Given the description of an element on the screen output the (x, y) to click on. 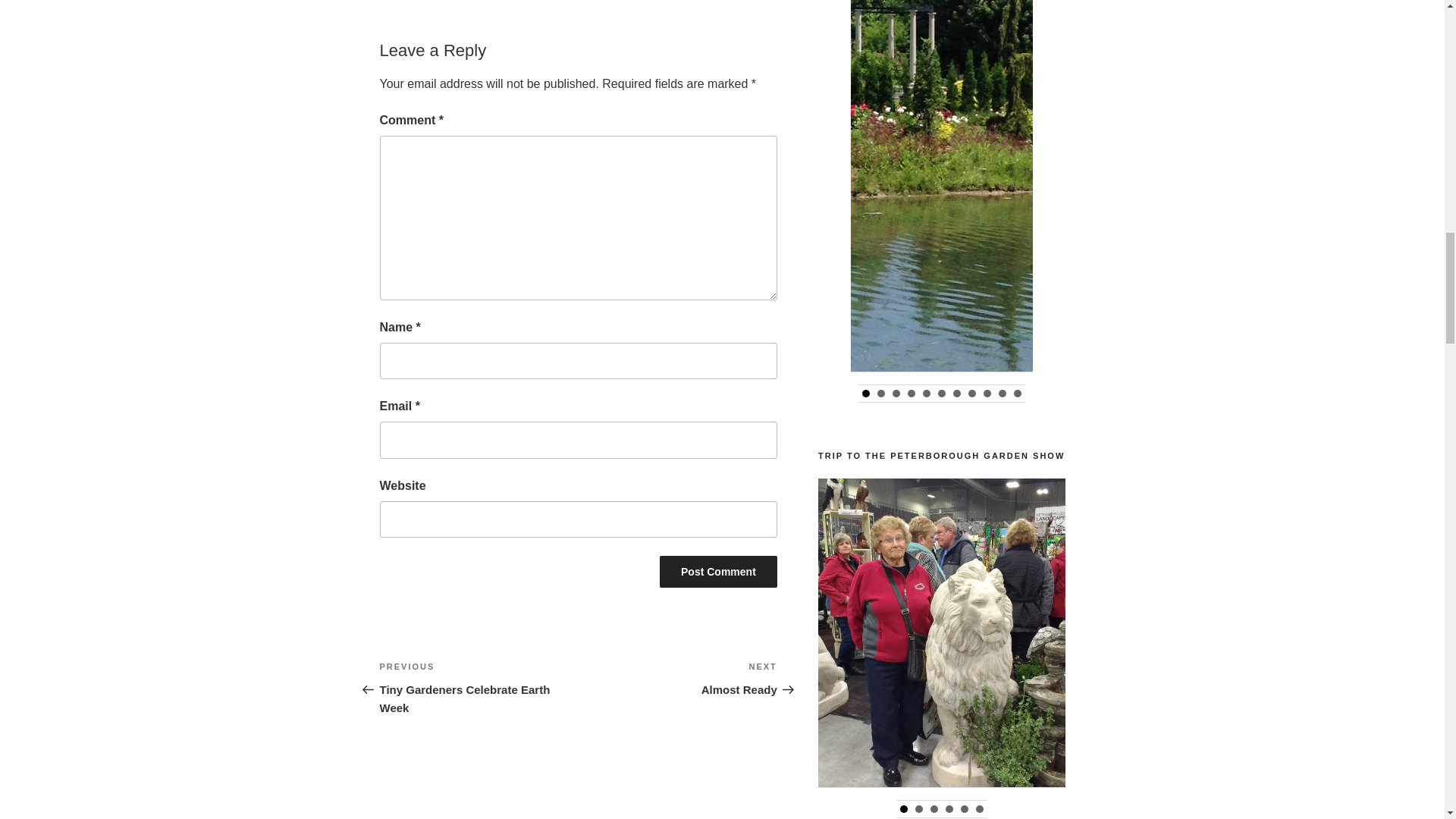
11 (1017, 393)
7 (956, 393)
10 (1002, 393)
Post Comment (718, 572)
8 (971, 393)
9 (987, 393)
5 (926, 393)
5 (964, 809)
Post Comment (718, 572)
3 (895, 393)
